Given the description of an element on the screen output the (x, y) to click on. 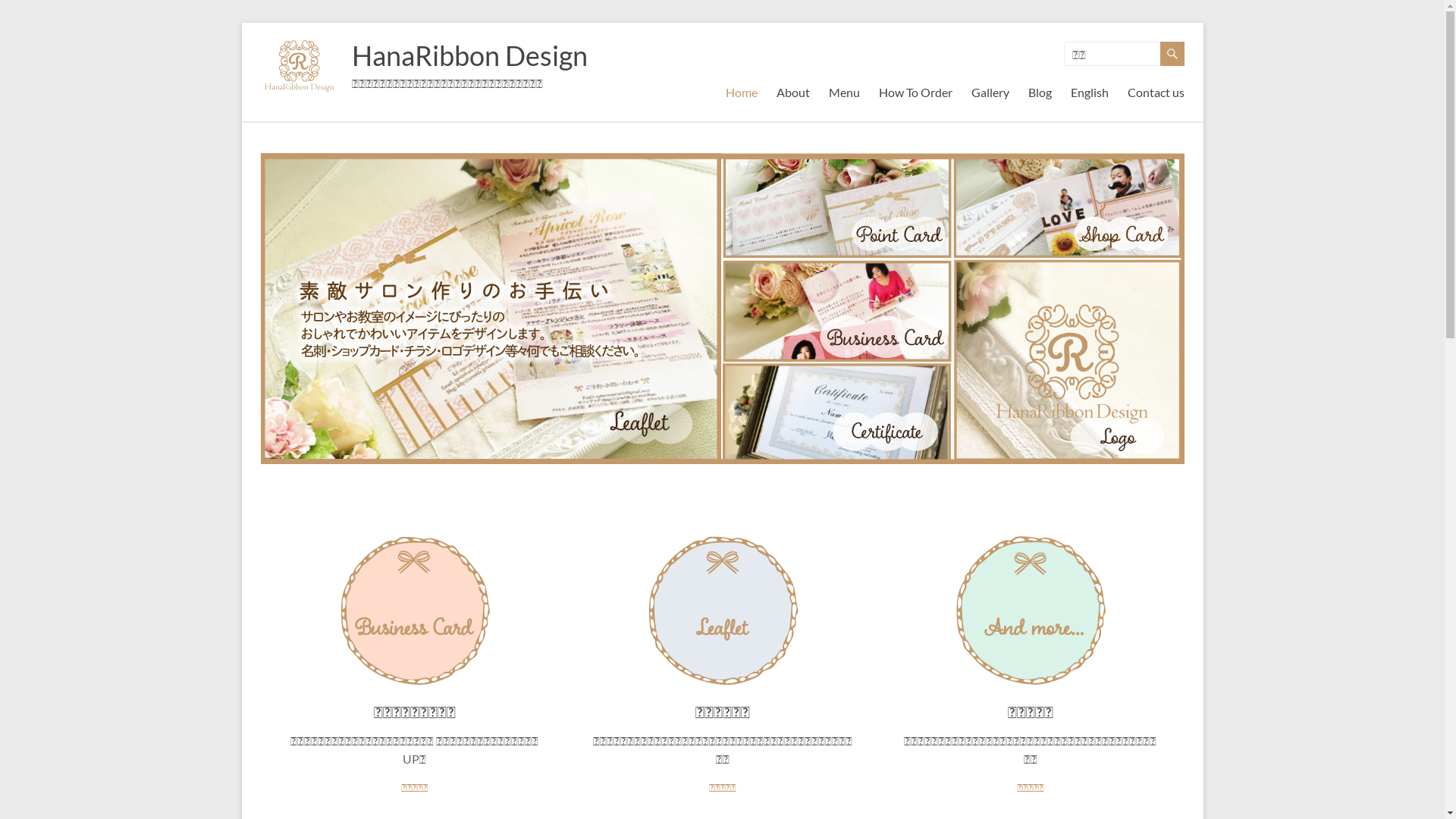
Gallery Element type: text (989, 92)
About Element type: text (792, 92)
Menu Element type: text (843, 92)
How To Order Element type: text (914, 92)
HanaRibbon Design Element type: text (469, 55)
Blog Element type: text (1039, 92)
English Element type: text (1089, 92)
Home Element type: text (740, 92)
Contact us Element type: text (1154, 92)
